Given the description of an element on the screen output the (x, y) to click on. 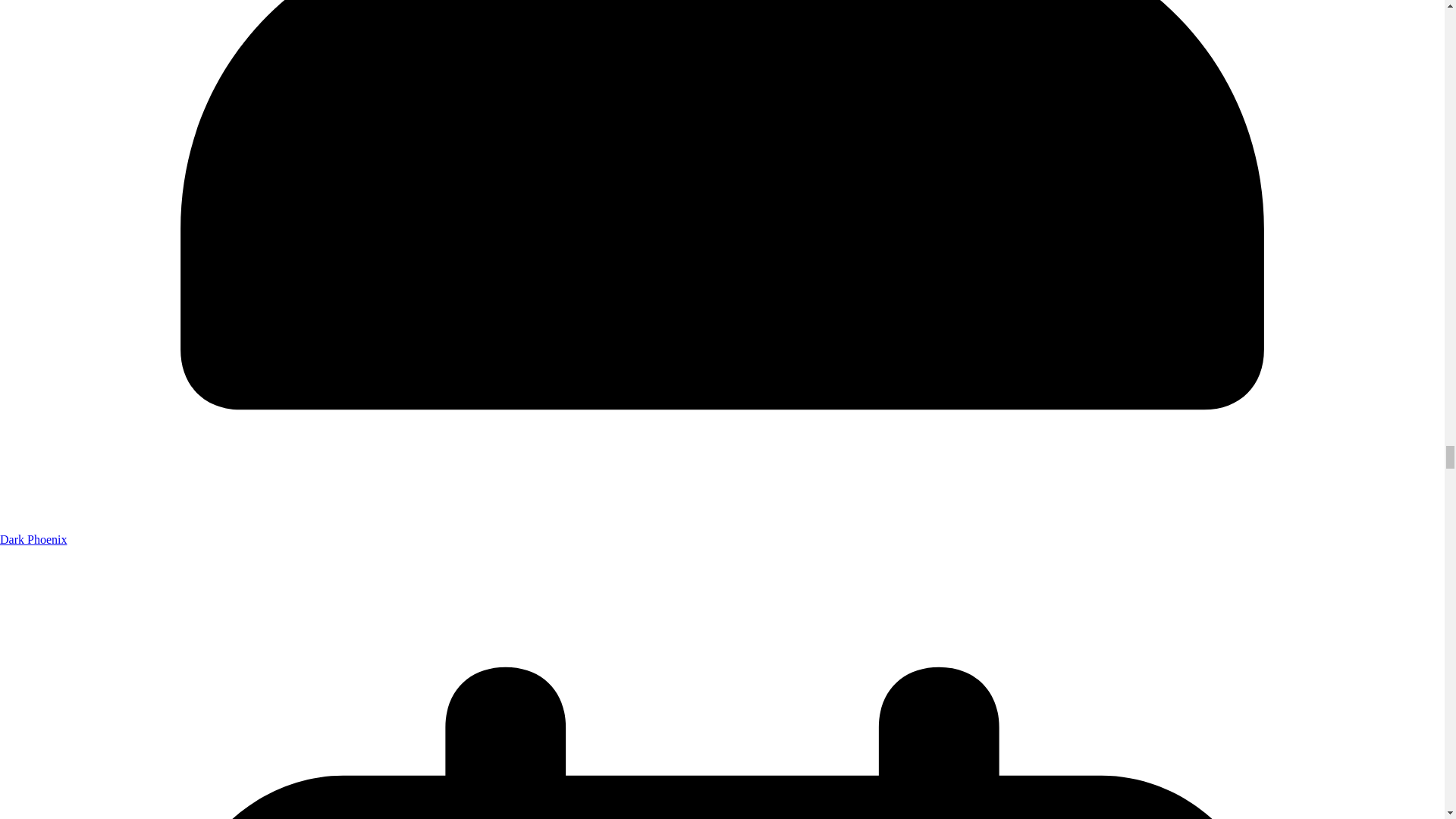
Dark Phoenix (33, 539)
Dark Phoenix (33, 539)
